Given the description of an element on the screen output the (x, y) to click on. 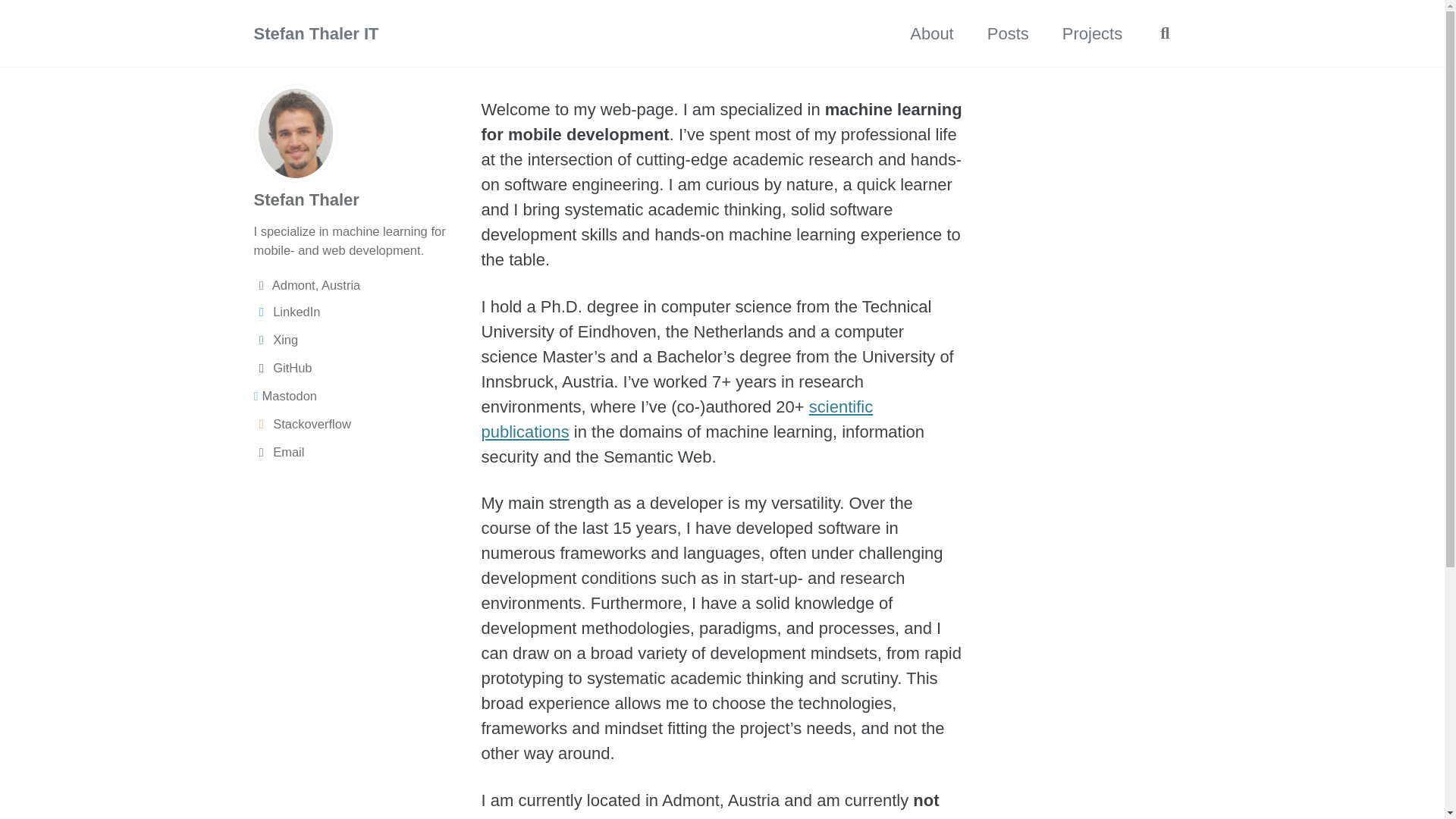
here (674, 817)
scientific publications (676, 419)
LinkedIn (358, 311)
Stackoverflow (358, 423)
Email (358, 452)
GitHub (358, 368)
Projects (1092, 33)
Xing (358, 340)
Mastodon (358, 395)
Posts (1008, 33)
